Given the description of an element on the screen output the (x, y) to click on. 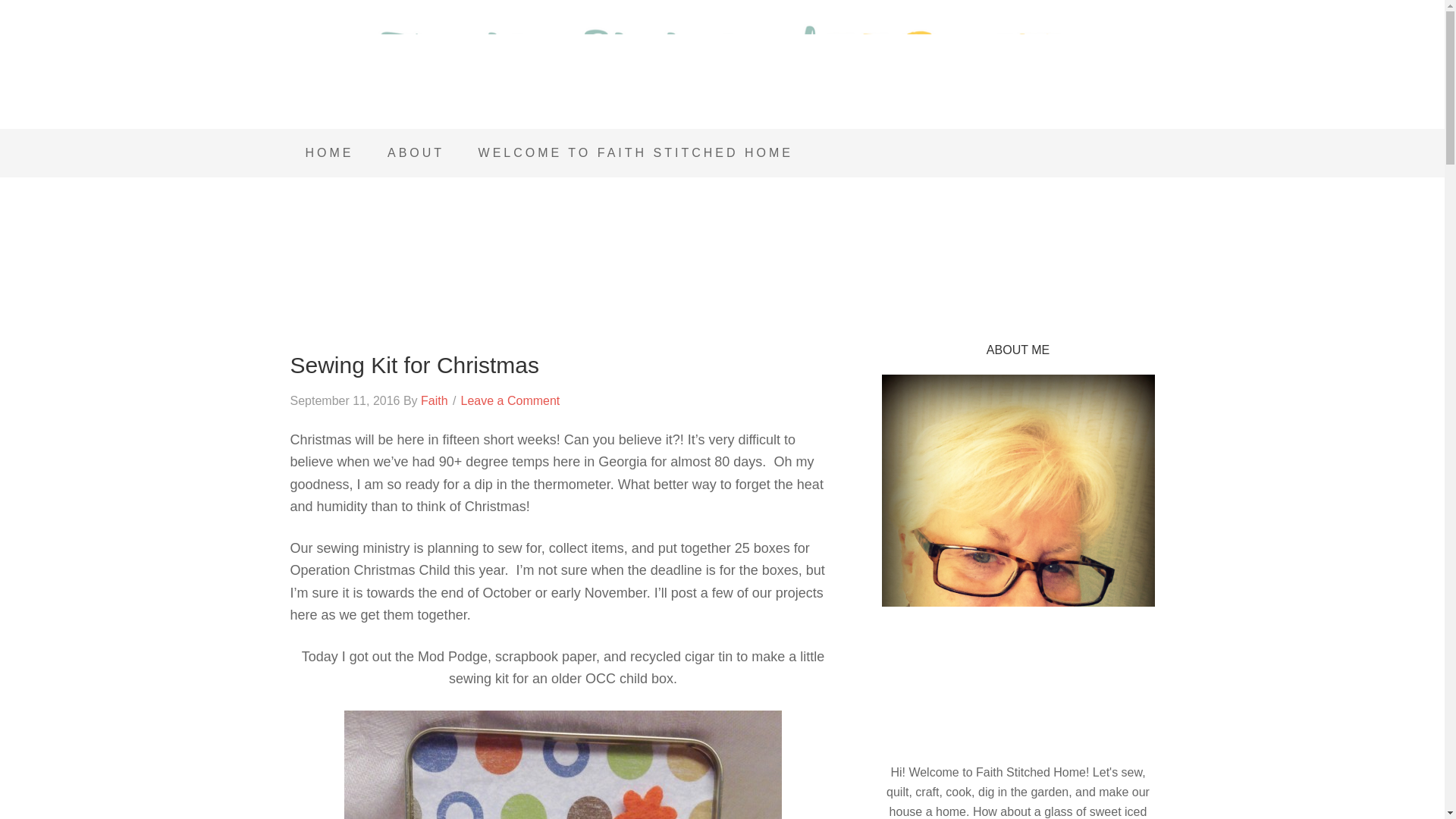
Sewing Kit for Christmas (413, 364)
ABOUT (416, 152)
Faith Stitched Home (721, 67)
Leave a Comment (510, 400)
Faith (434, 400)
HOME (328, 152)
WELCOME TO FAITH STITCHED HOME (635, 152)
